Given the description of an element on the screen output the (x, y) to click on. 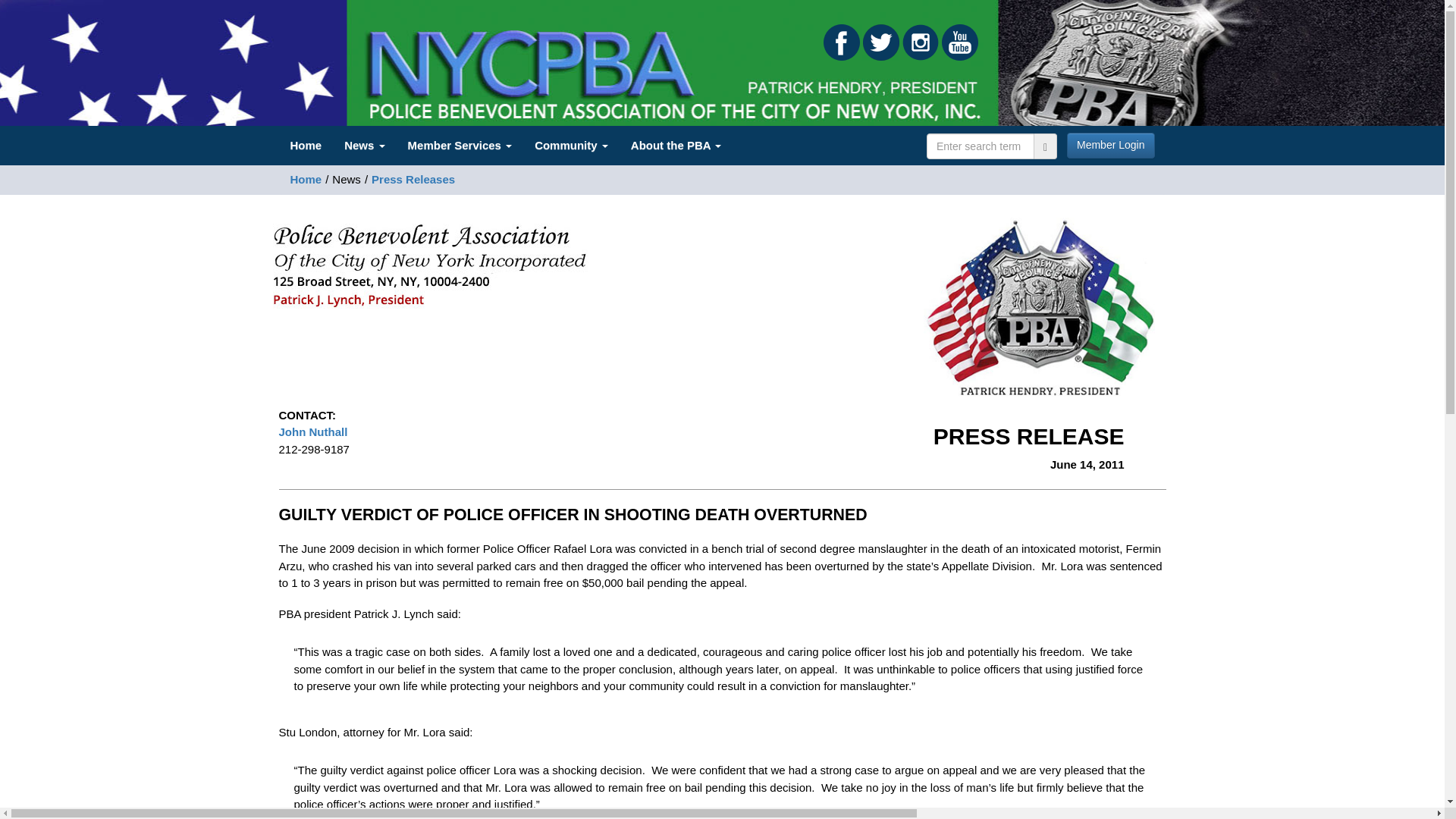
Home (306, 145)
News (364, 145)
Member Services (460, 145)
